Given the description of an element on the screen output the (x, y) to click on. 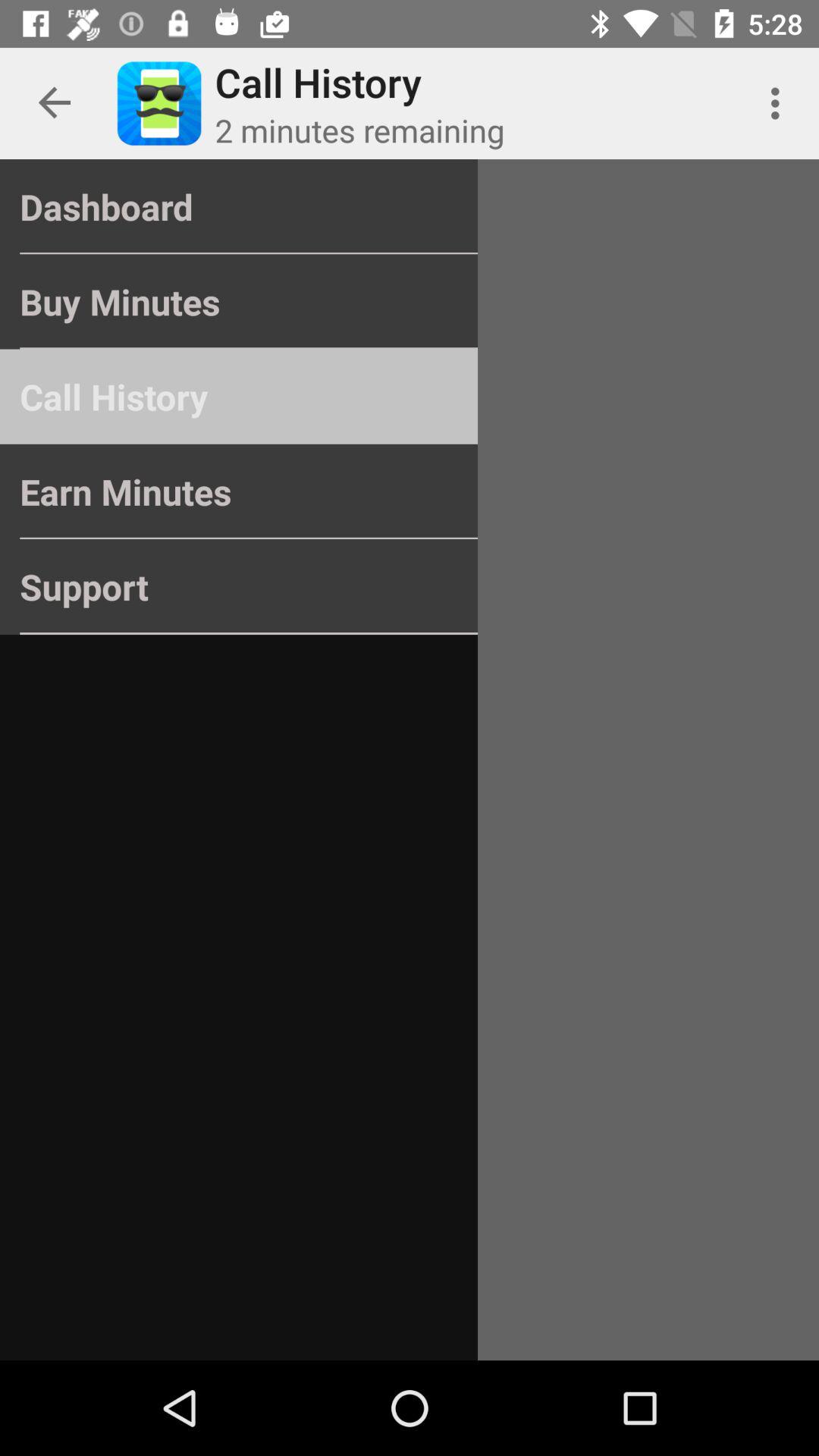
swipe until support (238, 586)
